Given the description of an element on the screen output the (x, y) to click on. 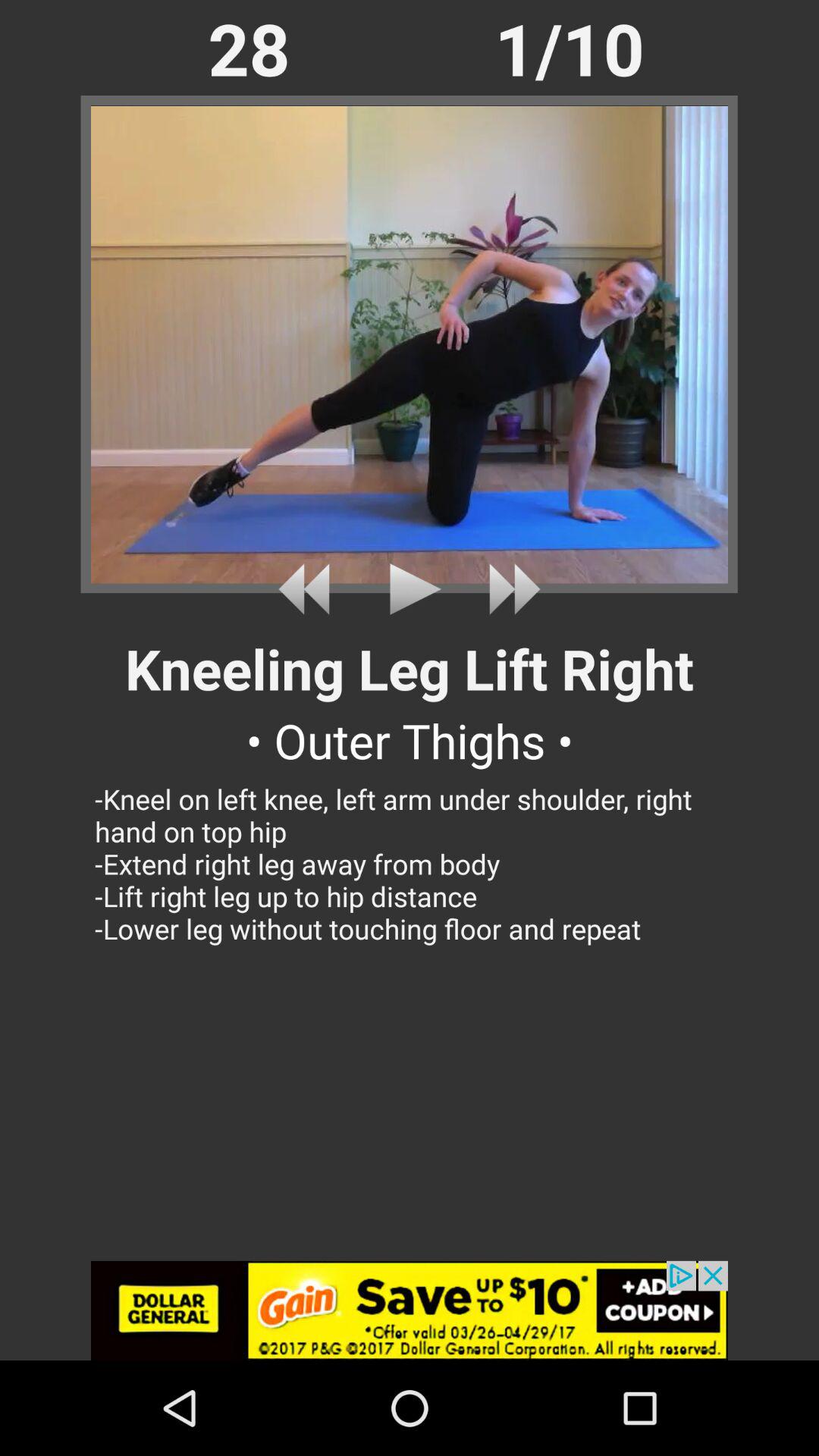
open gain advertisement (409, 1310)
